Given the description of an element on the screen output the (x, y) to click on. 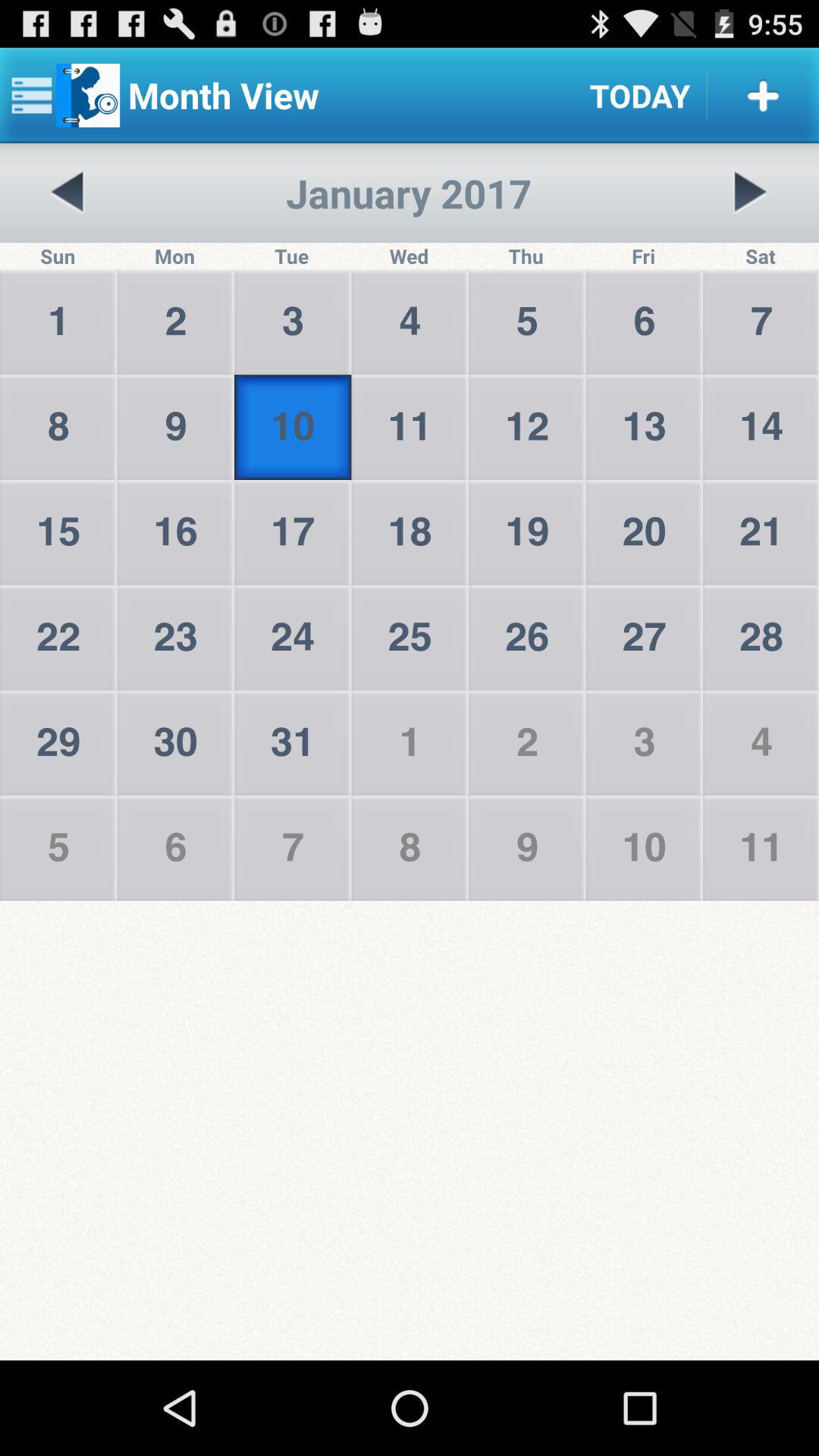
select item to the right of the thu item (750, 192)
